Given the description of an element on the screen output the (x, y) to click on. 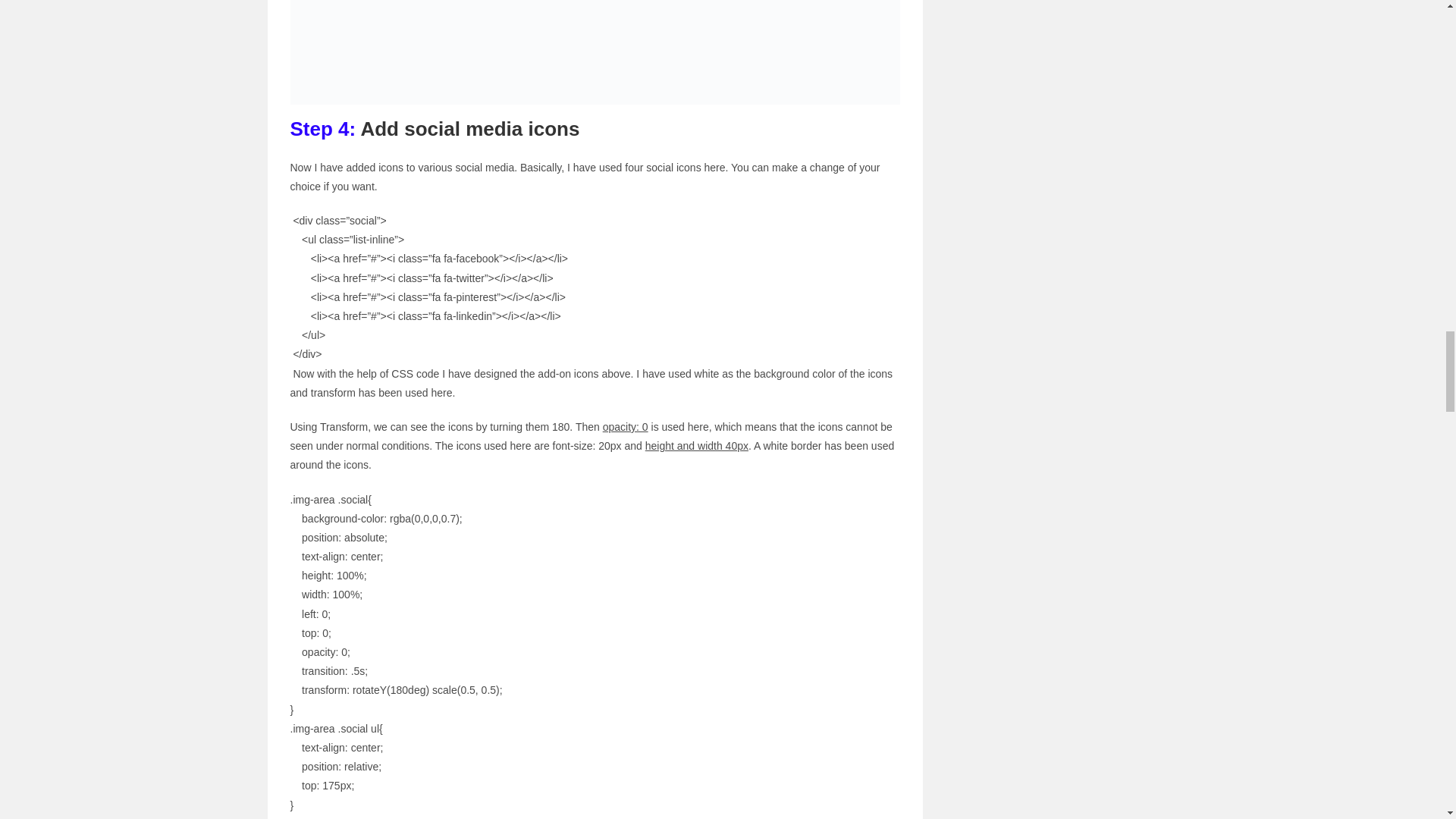
Add a profile image in the box (594, 52)
